Given the description of an element on the screen output the (x, y) to click on. 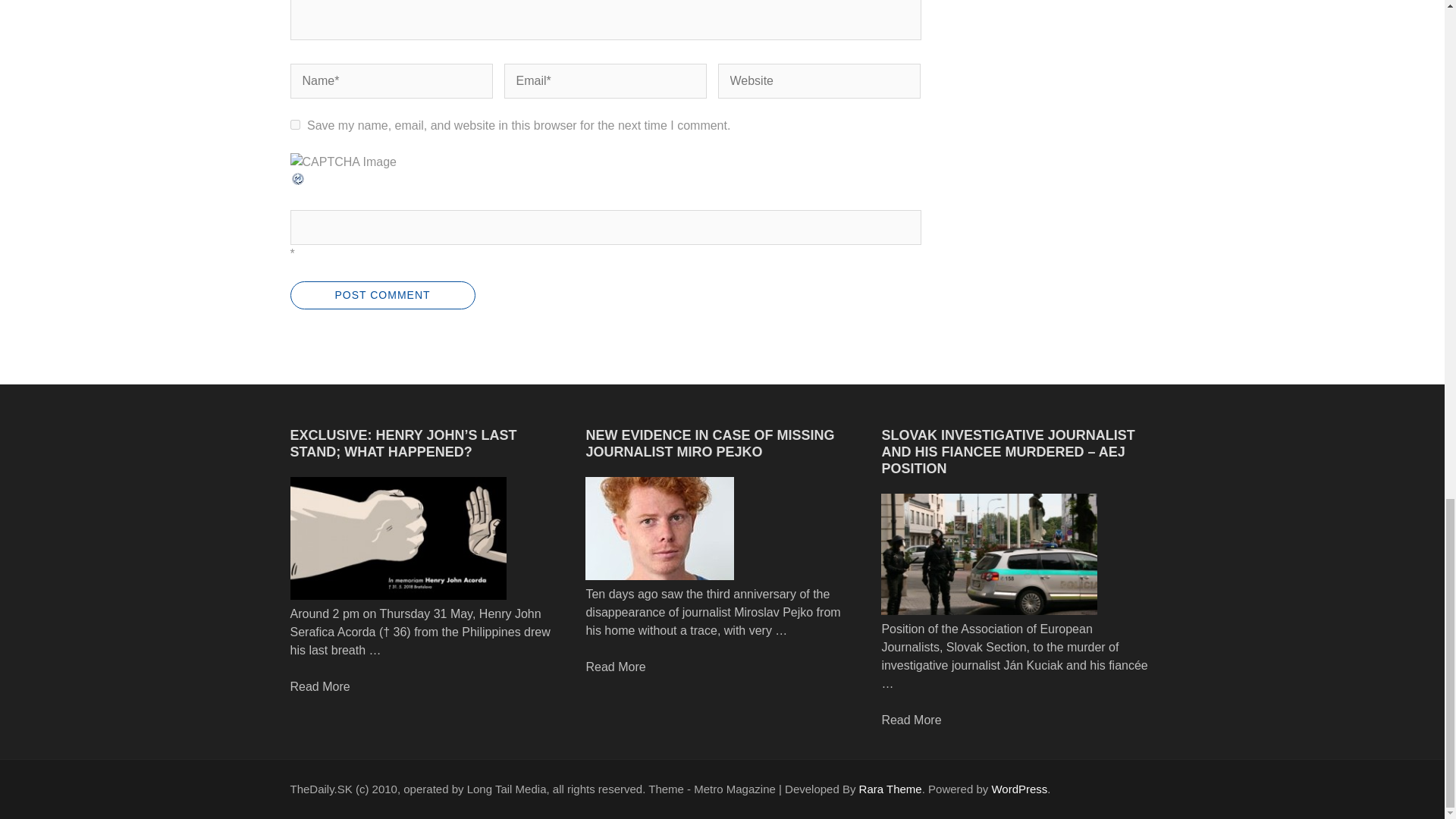
Post Comment (381, 295)
yes (294, 124)
Refresh Image (297, 182)
CAPTCHA Image (342, 162)
